Given the description of an element on the screen output the (x, y) to click on. 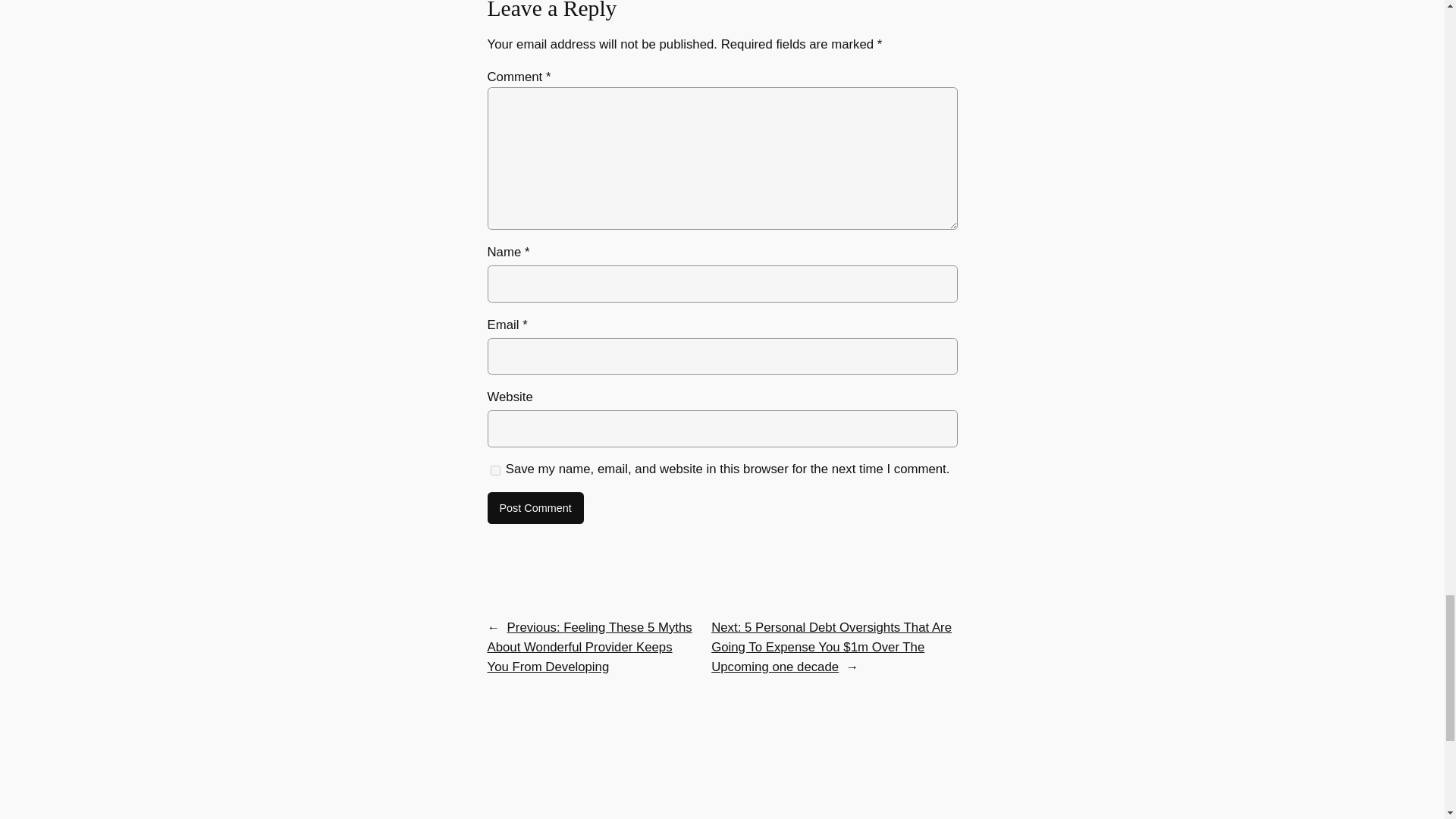
Post Comment (534, 508)
Post Comment (534, 508)
